Given the description of an element on the screen output the (x, y) to click on. 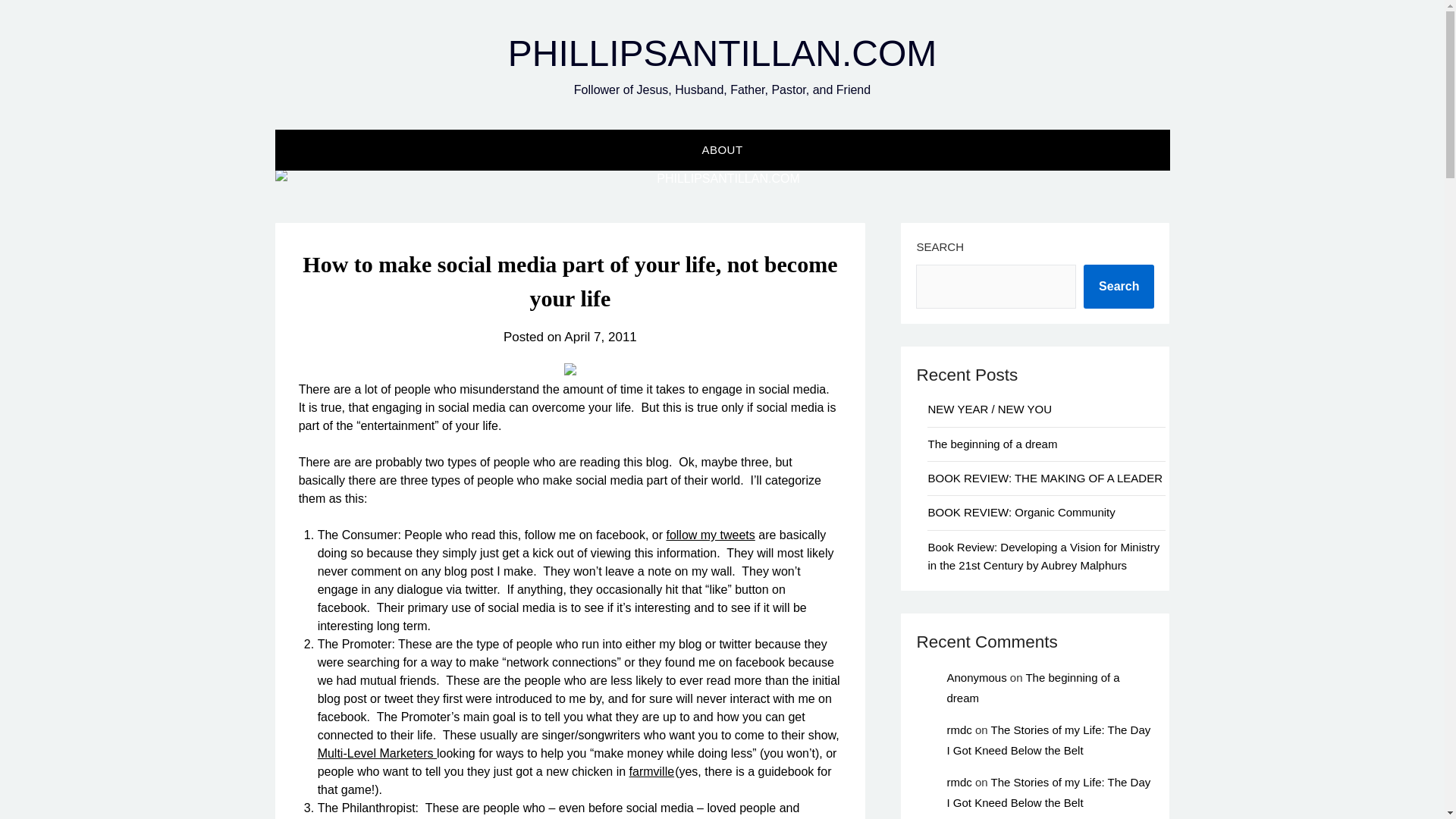
farmville (651, 771)
Search (1118, 286)
BOOK REVIEW: Organic Community (1021, 512)
rmdc (958, 729)
Multi-Level Marketers (376, 753)
April 7, 2011 (600, 336)
The Stories of my Life: The Day I Got Kneed Below the Belt (1048, 739)
The beginning of a dream (992, 443)
rmdc (958, 781)
PHILLIPSANTILLAN.COM (722, 53)
ABOUT (721, 149)
follow my tweets (709, 534)
The Stories of my Life: The Day I Got Kneed Below the Belt (1048, 792)
The beginning of a dream (1032, 687)
